Given the description of an element on the screen output the (x, y) to click on. 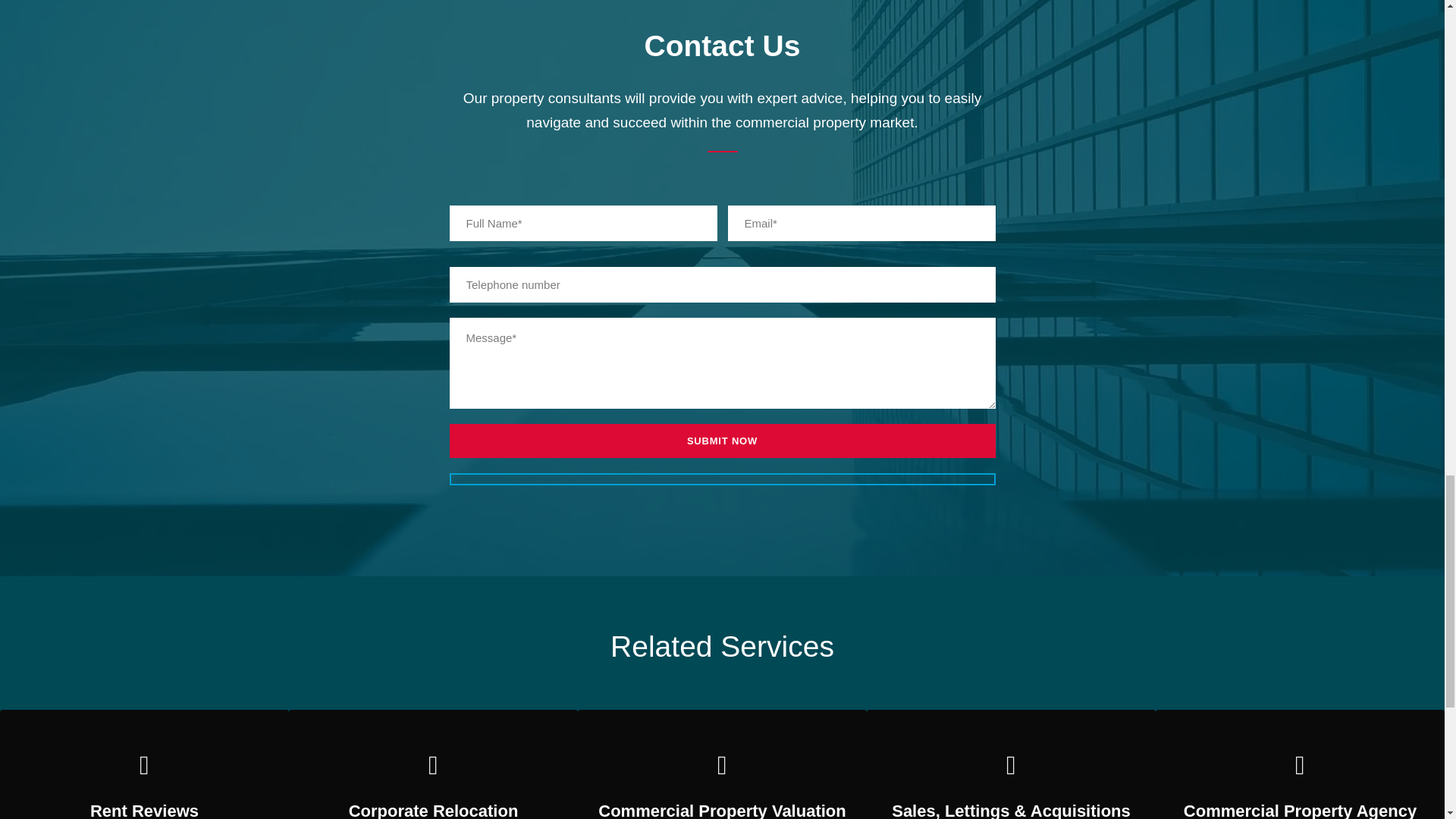
Submit Now (721, 440)
Submit Now (721, 440)
